Given the description of an element on the screen output the (x, y) to click on. 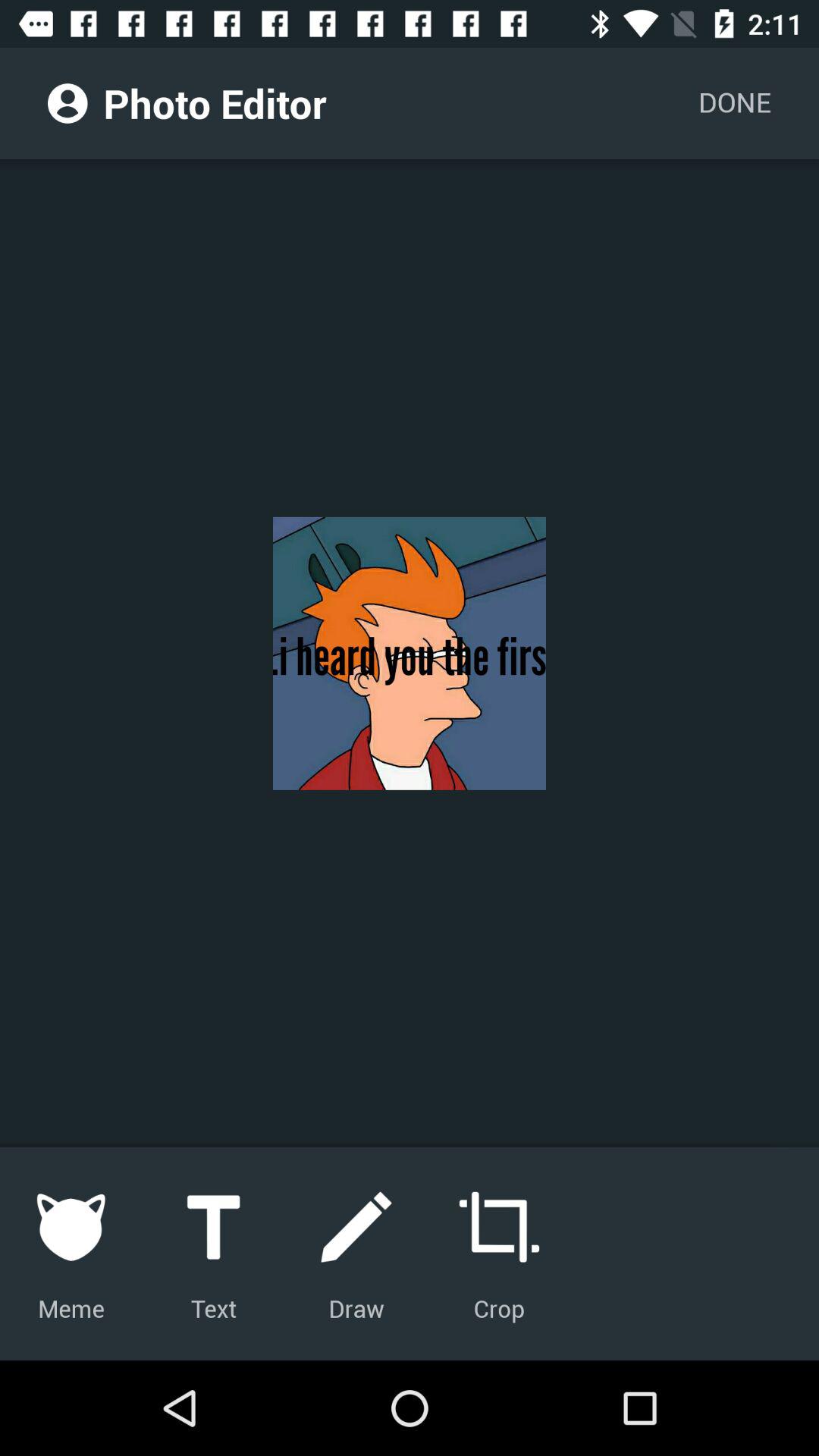
press the item next to photo editor item (734, 103)
